Given the description of an element on the screen output the (x, y) to click on. 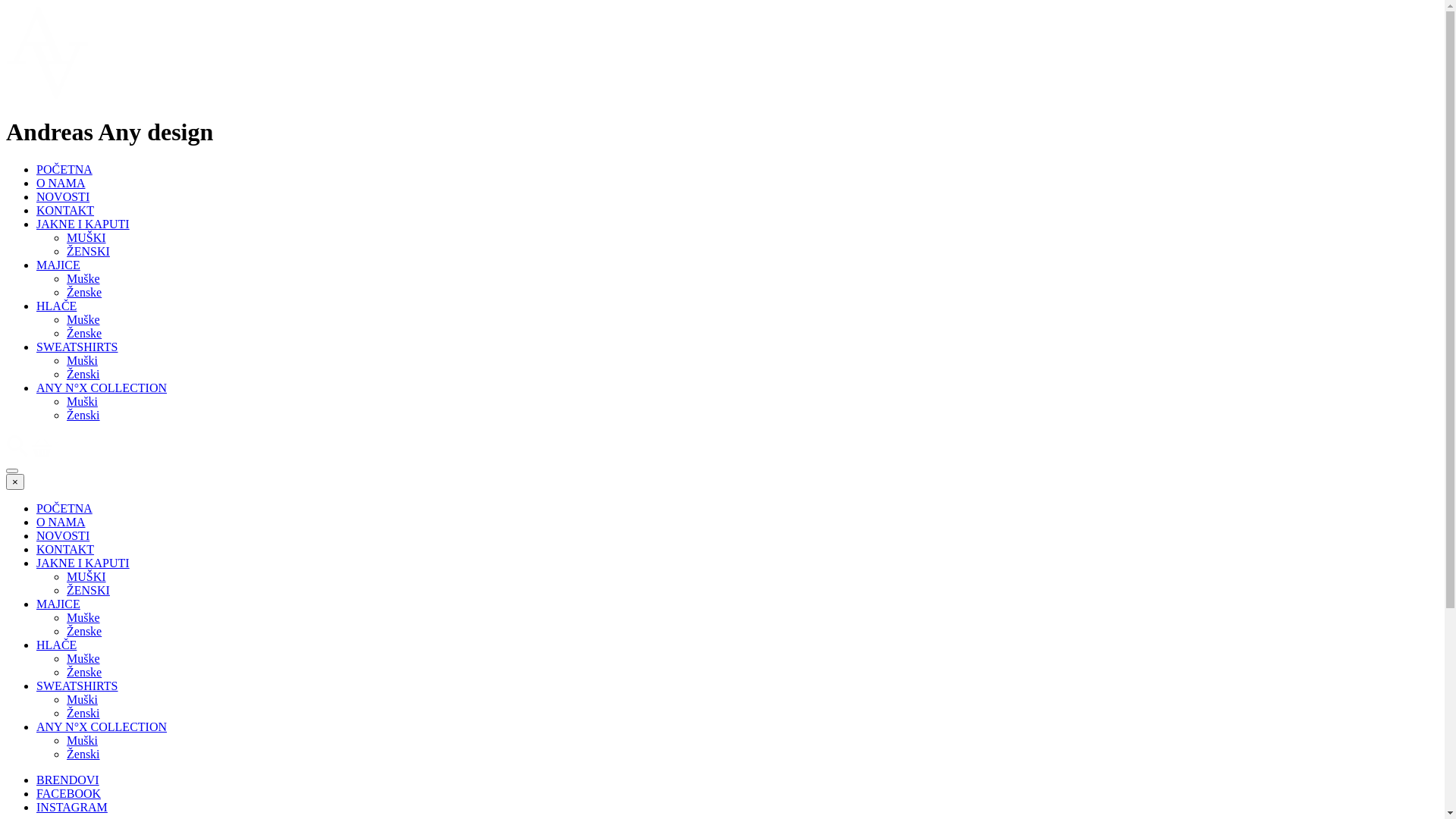
MAJICE Element type: text (58, 264)
KONTAKT Element type: text (65, 548)
SWEATSHIRTS Element type: text (77, 346)
NOVOSTI Element type: text (62, 196)
BRENDOVI Element type: text (67, 779)
MAJICE Element type: text (58, 603)
O NAMA Element type: text (60, 521)
SWEATSHIRTS Element type: text (77, 685)
JAKNE I KAPUTI Element type: text (82, 223)
INSTAGRAM Element type: text (71, 806)
JAKNE I KAPUTI Element type: text (82, 562)
KONTAKT Element type: text (65, 209)
NOVOSTI Element type: text (62, 535)
FACEBOOK Element type: text (68, 793)
O NAMA Element type: text (60, 182)
